Given the description of an element on the screen output the (x, y) to click on. 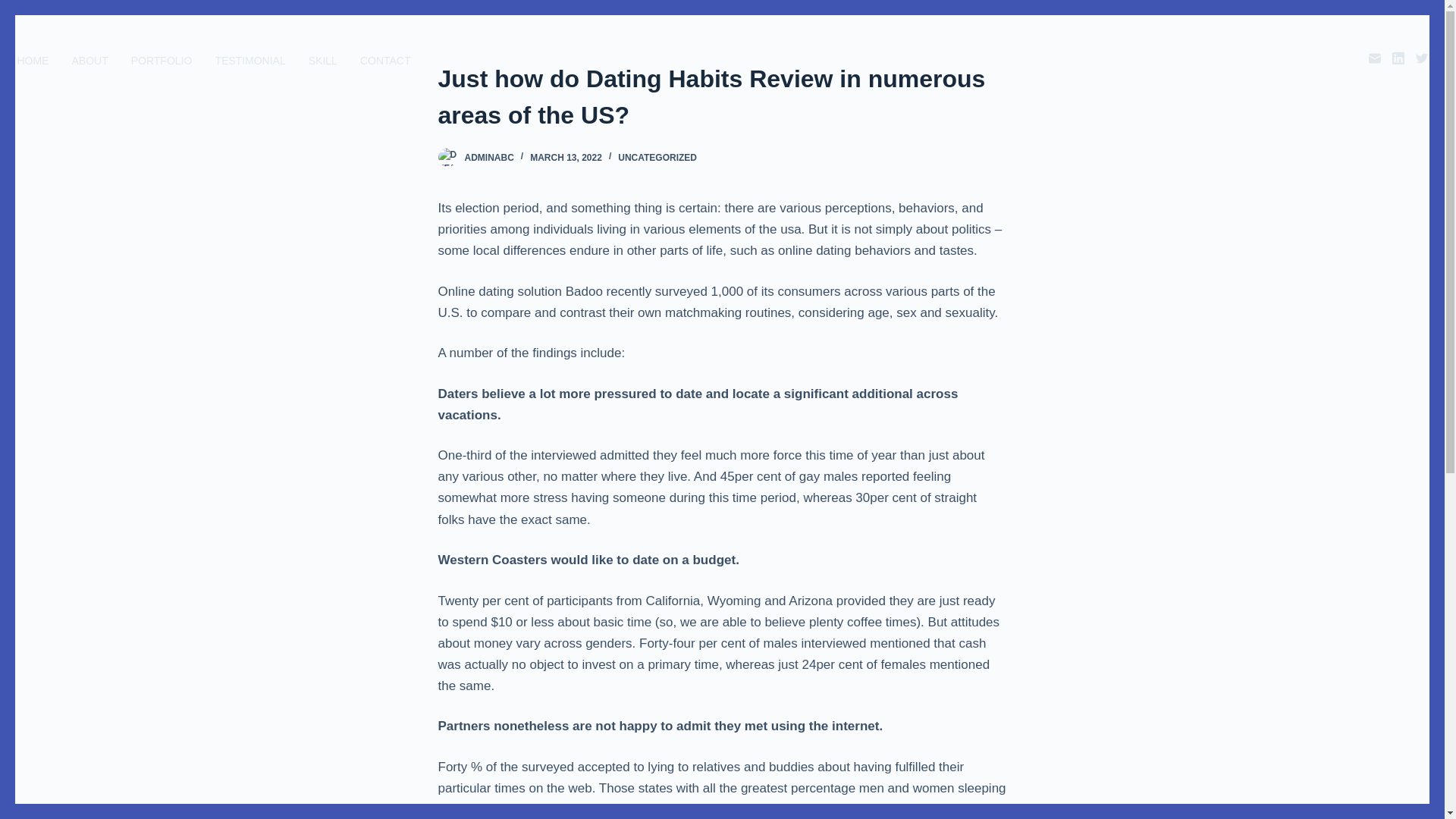
UNCATEGORIZED (657, 157)
ADMINABC (488, 157)
Skip to content (15, 7)
PORTFOLIO (161, 60)
Posts by adminabc (488, 157)
TESTIMONIAL (250, 60)
